Given the description of an element on the screen output the (x, y) to click on. 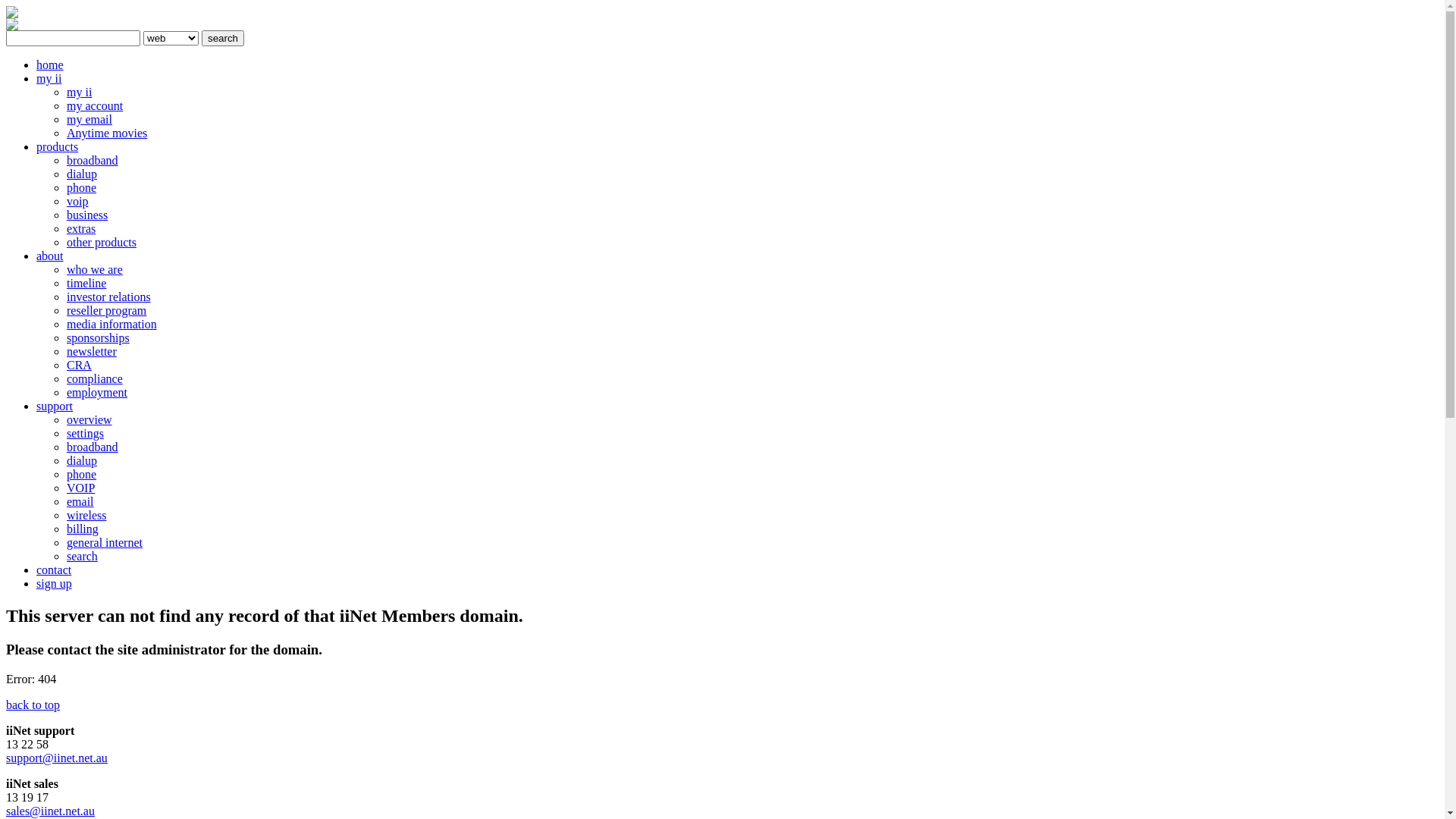
media information Element type: text (111, 323)
my email Element type: text (89, 118)
phone Element type: text (81, 187)
newsletter Element type: text (91, 351)
investor relations Element type: text (108, 296)
settings Element type: text (84, 432)
timeline Element type: text (86, 282)
email Element type: text (80, 501)
back to top Element type: text (32, 704)
products Element type: text (57, 146)
overview Element type: text (89, 419)
search Element type: text (81, 555)
other products Element type: text (101, 241)
dialup Element type: text (81, 460)
my ii Element type: text (48, 78)
compliance Element type: text (94, 378)
support Element type: text (54, 405)
broadband Element type: text (92, 159)
sign up Element type: text (54, 583)
who we are Element type: text (94, 269)
extras Element type: text (80, 228)
phone Element type: text (81, 473)
contact Element type: text (53, 569)
my ii Element type: text (78, 91)
general internet Element type: text (104, 542)
reseller program Element type: text (106, 310)
broadband Element type: text (92, 446)
wireless Element type: text (86, 514)
my account Element type: text (94, 105)
dialup Element type: text (81, 173)
sales@iinet.net.au Element type: text (50, 810)
billing Element type: text (82, 528)
employment Element type: text (96, 391)
search Element type: text (222, 38)
about Element type: text (49, 255)
sponsorships Element type: text (97, 337)
Anytime movies Element type: text (106, 132)
VOIP Element type: text (80, 487)
support@iinet.net.au Element type: text (56, 757)
home Element type: text (49, 64)
CRA Element type: text (78, 364)
voip Element type: text (76, 200)
business Element type: text (86, 214)
